Given the description of an element on the screen output the (x, y) to click on. 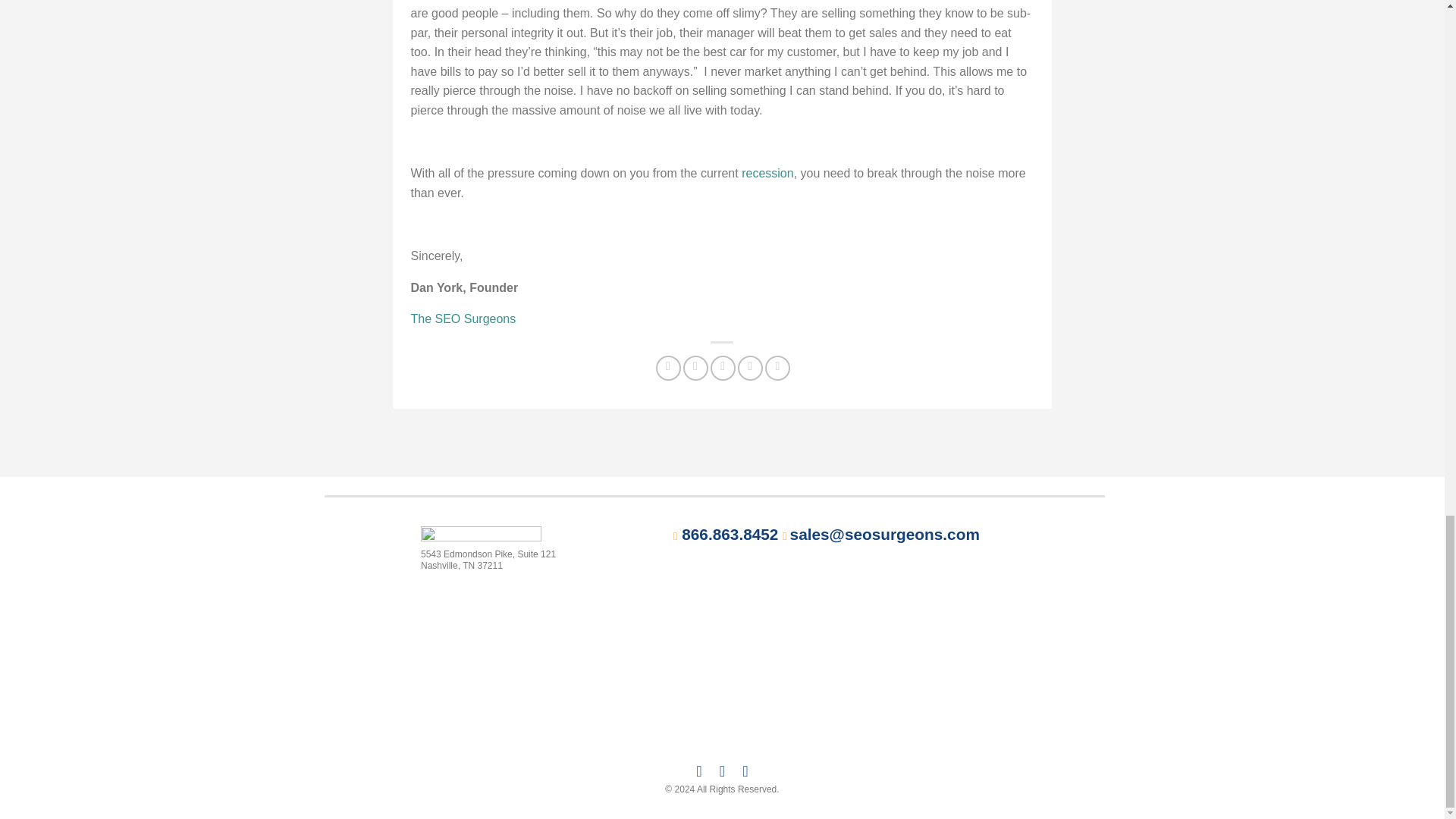
Follow on Facebook (698, 770)
The SEO Surgeons (463, 318)
Share on LinkedIn (777, 367)
Follow on YouTube (745, 770)
Share on Twitter (694, 367)
866.863.8452 (729, 533)
Pin on Pinterest (750, 367)
Follow on Instagram (721, 770)
Email to a Friend (722, 367)
recession (767, 173)
Share on Facebook (668, 367)
